Given the description of an element on the screen output the (x, y) to click on. 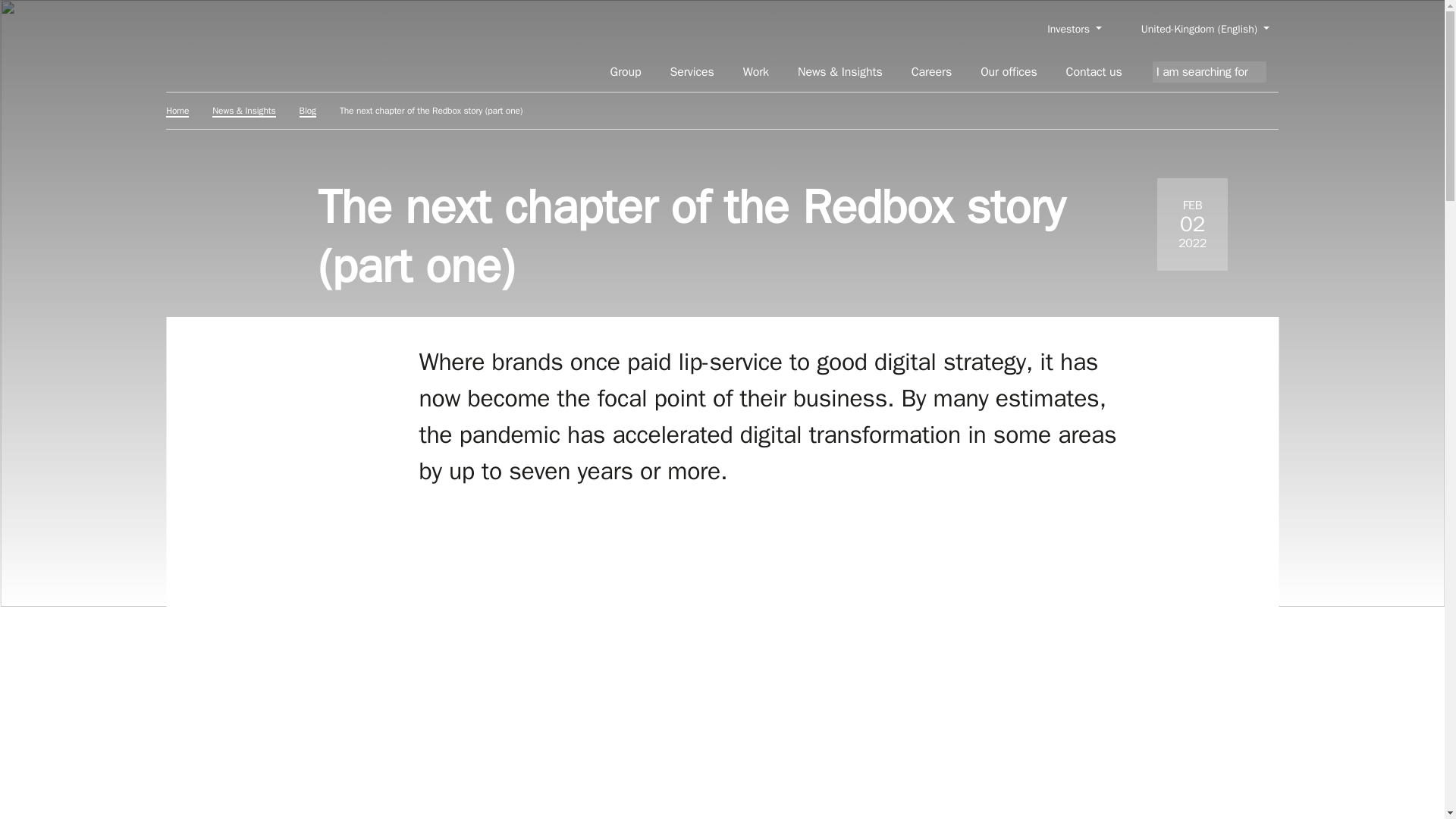
Investors (1074, 28)
Search (1272, 72)
Group (626, 71)
Services (691, 71)
